Given the description of an element on the screen output the (x, y) to click on. 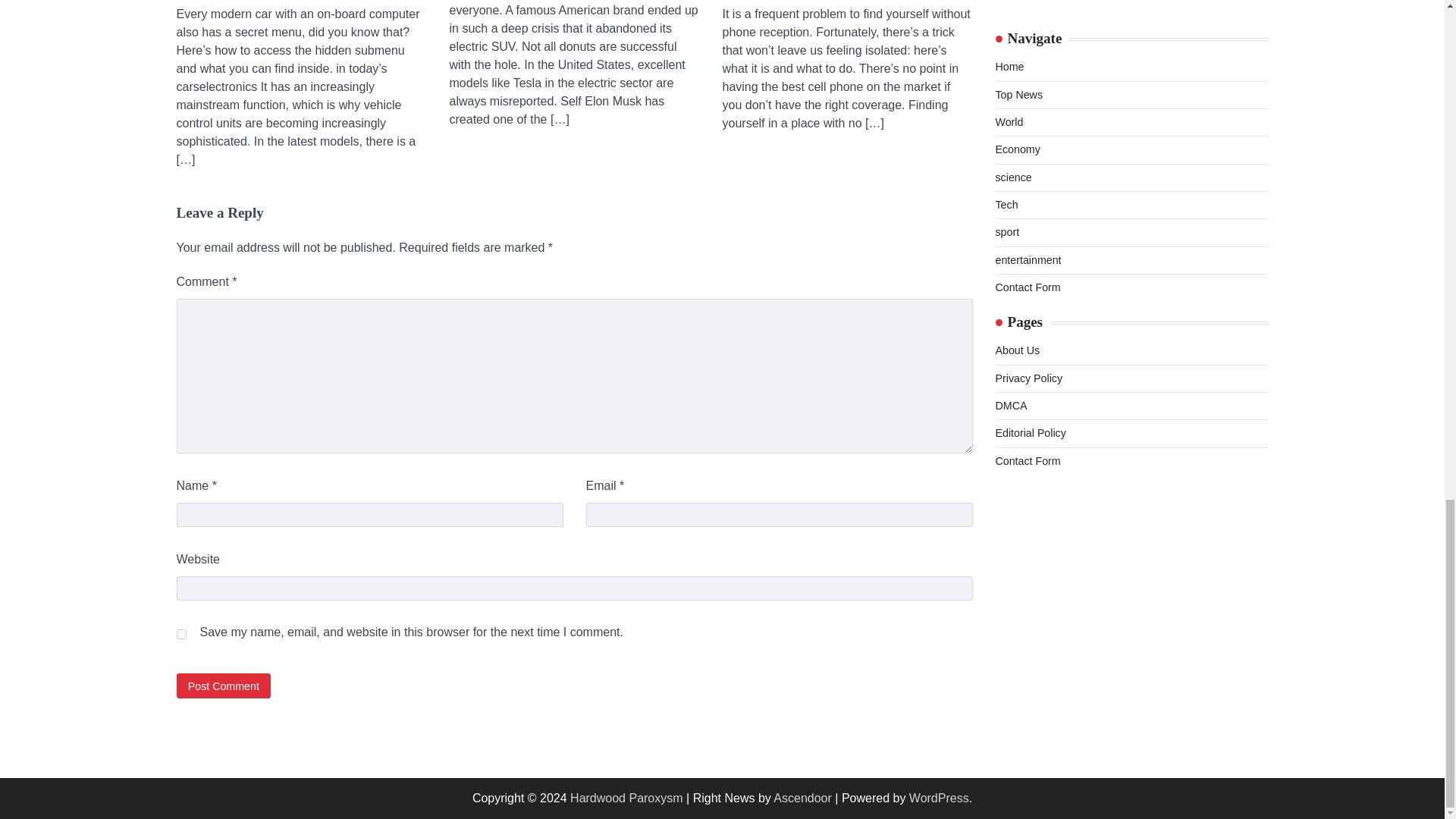
yes (181, 634)
Post Comment (223, 685)
Post Comment (223, 685)
